Given the description of an element on the screen output the (x, y) to click on. 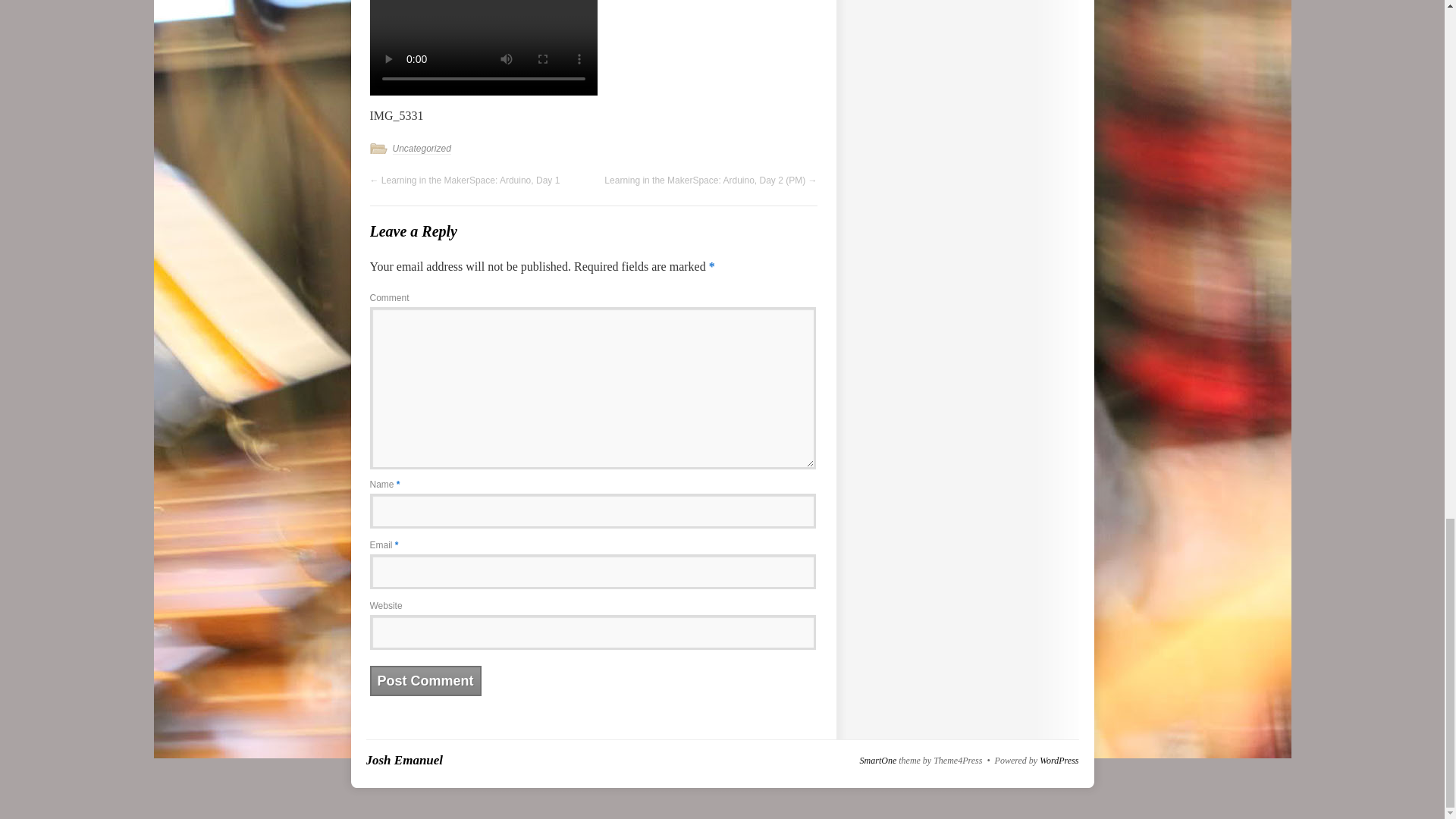
Semantic Personal Publishing Platform (1058, 760)
Uncategorized (422, 148)
Post Comment (425, 680)
Post Comment (425, 680)
